Given the description of an element on the screen output the (x, y) to click on. 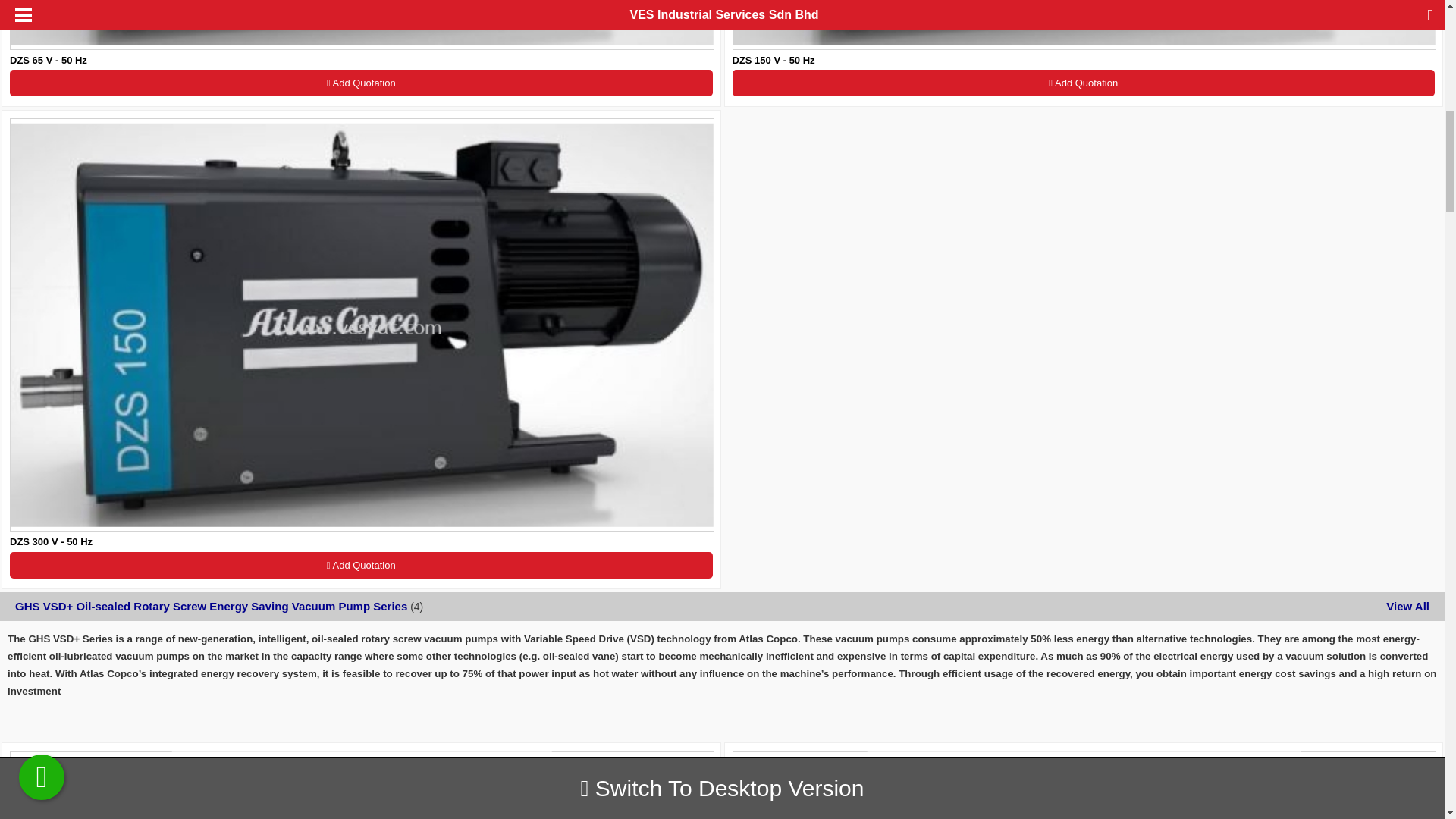
Add Quotation (1083, 82)
View All (1407, 605)
Add Quotation (361, 82)
Add Quotation (361, 565)
